Given the description of an element on the screen output the (x, y) to click on. 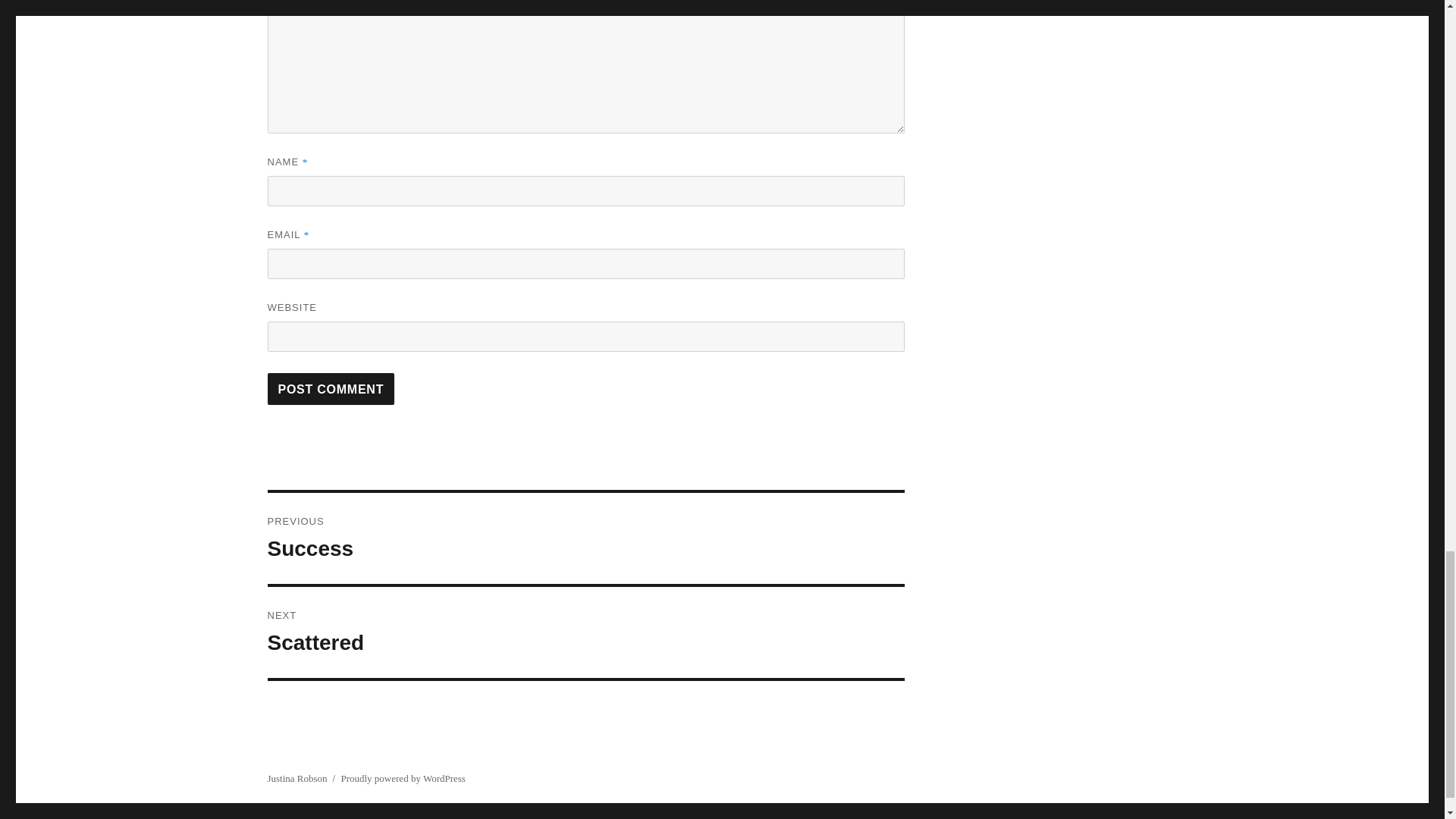
Post Comment (330, 388)
Justina Robson (585, 632)
Post Comment (296, 778)
Proudly powered by WordPress (585, 538)
